Given the description of an element on the screen output the (x, y) to click on. 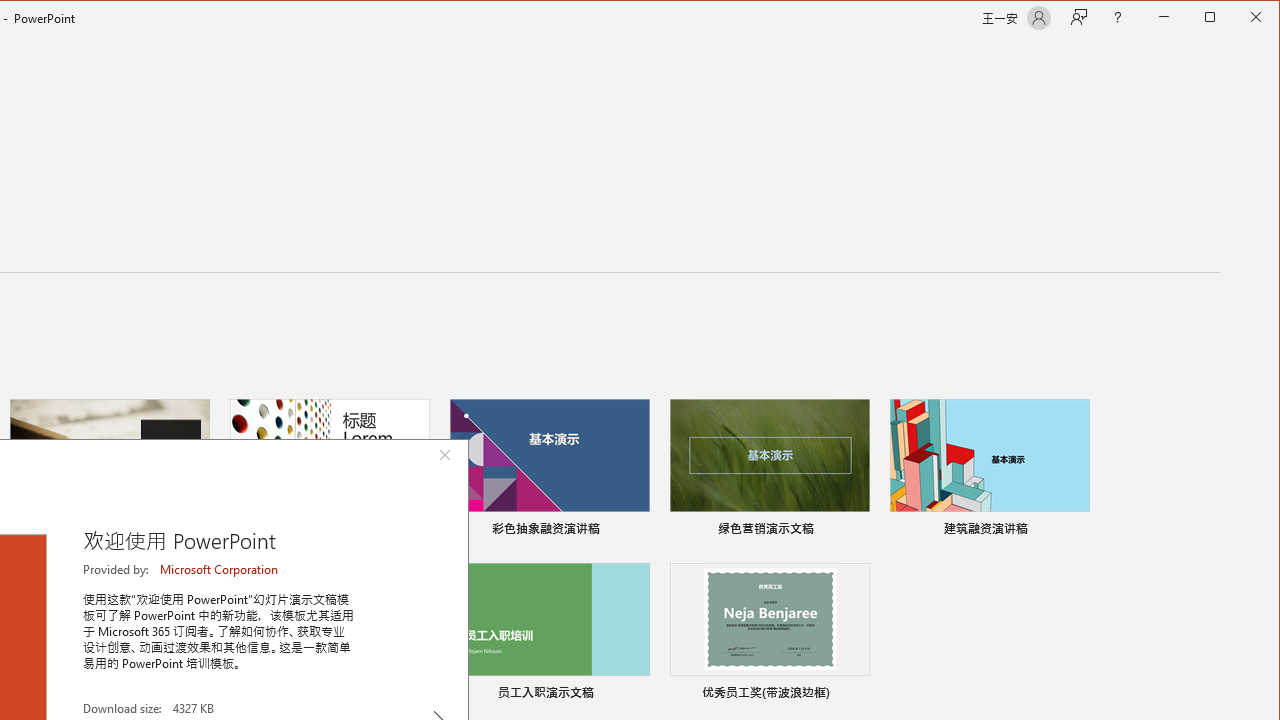
Pin to list (856, 695)
Microsoft Corporation (220, 569)
Maximize (1238, 18)
